Given the description of an element on the screen output the (x, y) to click on. 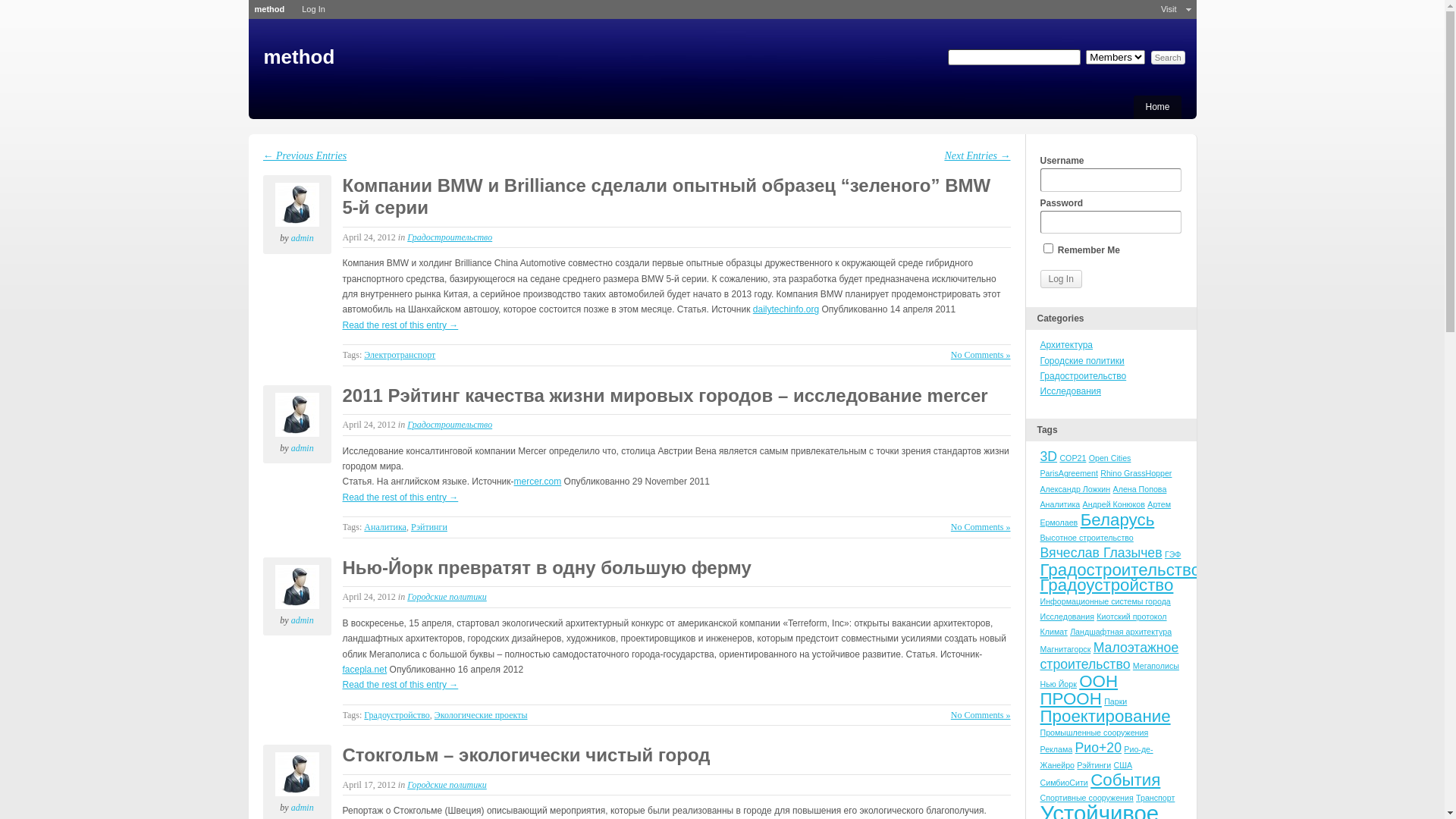
admin Element type: text (302, 620)
Rhino GrassHopper Element type: text (1135, 472)
Search Element type: text (1168, 57)
admin Element type: text (302, 447)
admin Element type: hover (296, 414)
method Element type: text (299, 56)
admin Element type: hover (296, 774)
method Element type: text (269, 9)
Visit Element type: text (1168, 9)
mercer.com Element type: text (537, 481)
admin Element type: text (302, 807)
ParisAgreement Element type: text (1069, 472)
facepla.net Element type: text (364, 669)
Home Element type: text (1156, 106)
Open Cities Element type: text (1109, 457)
admin Element type: hover (296, 204)
admin Element type: text (302, 237)
3D Element type: text (1048, 456)
Log In Element type: text (313, 9)
admin Element type: hover (296, 586)
dailytechinfo.org Element type: text (786, 309)
COP21 Element type: text (1072, 457)
Log In Element type: text (1061, 278)
